Given the description of an element on the screen output the (x, y) to click on. 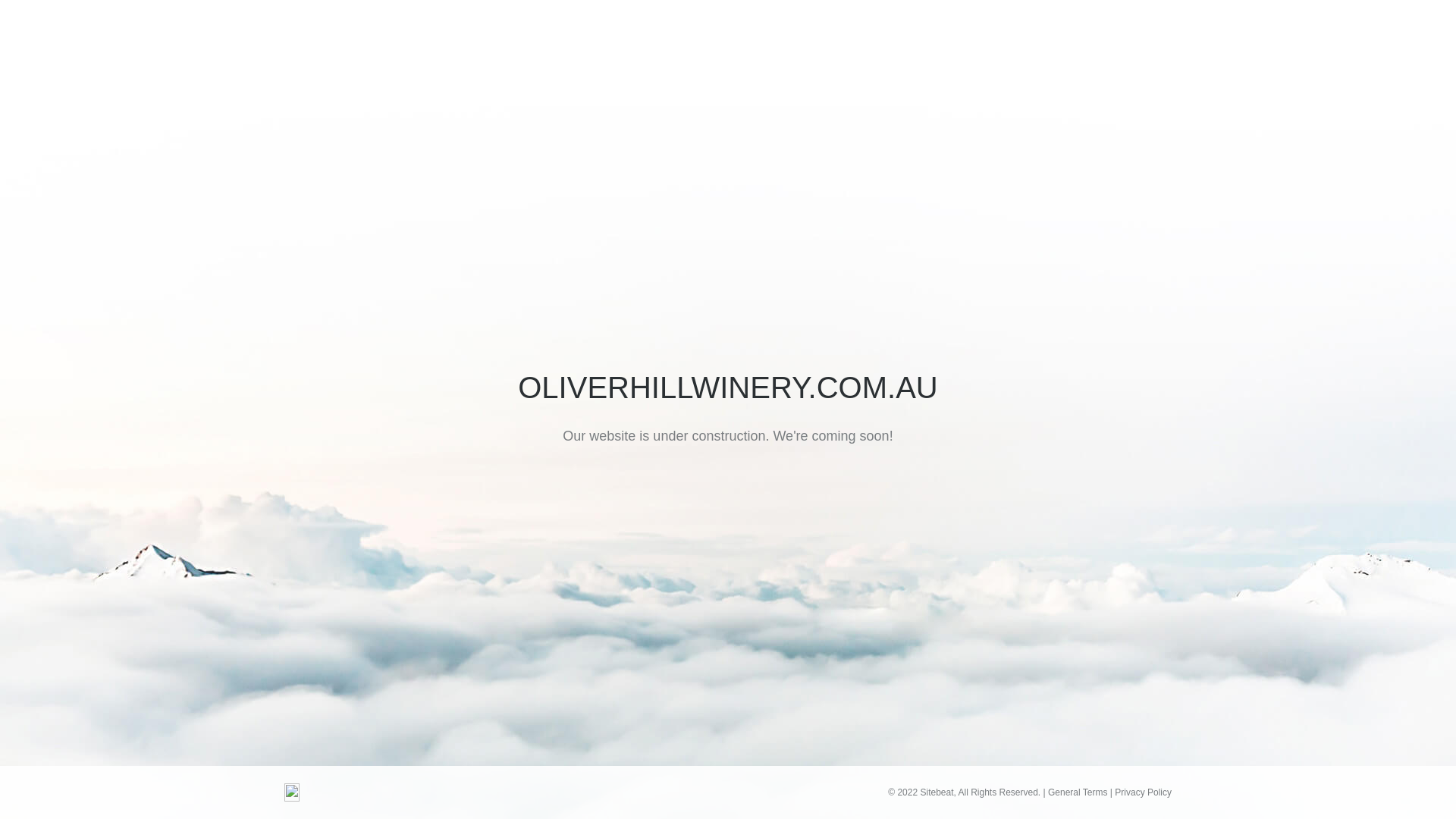
General Terms Element type: text (1077, 792)
Privacy Policy Element type: text (1142, 792)
